Given the description of an element on the screen output the (x, y) to click on. 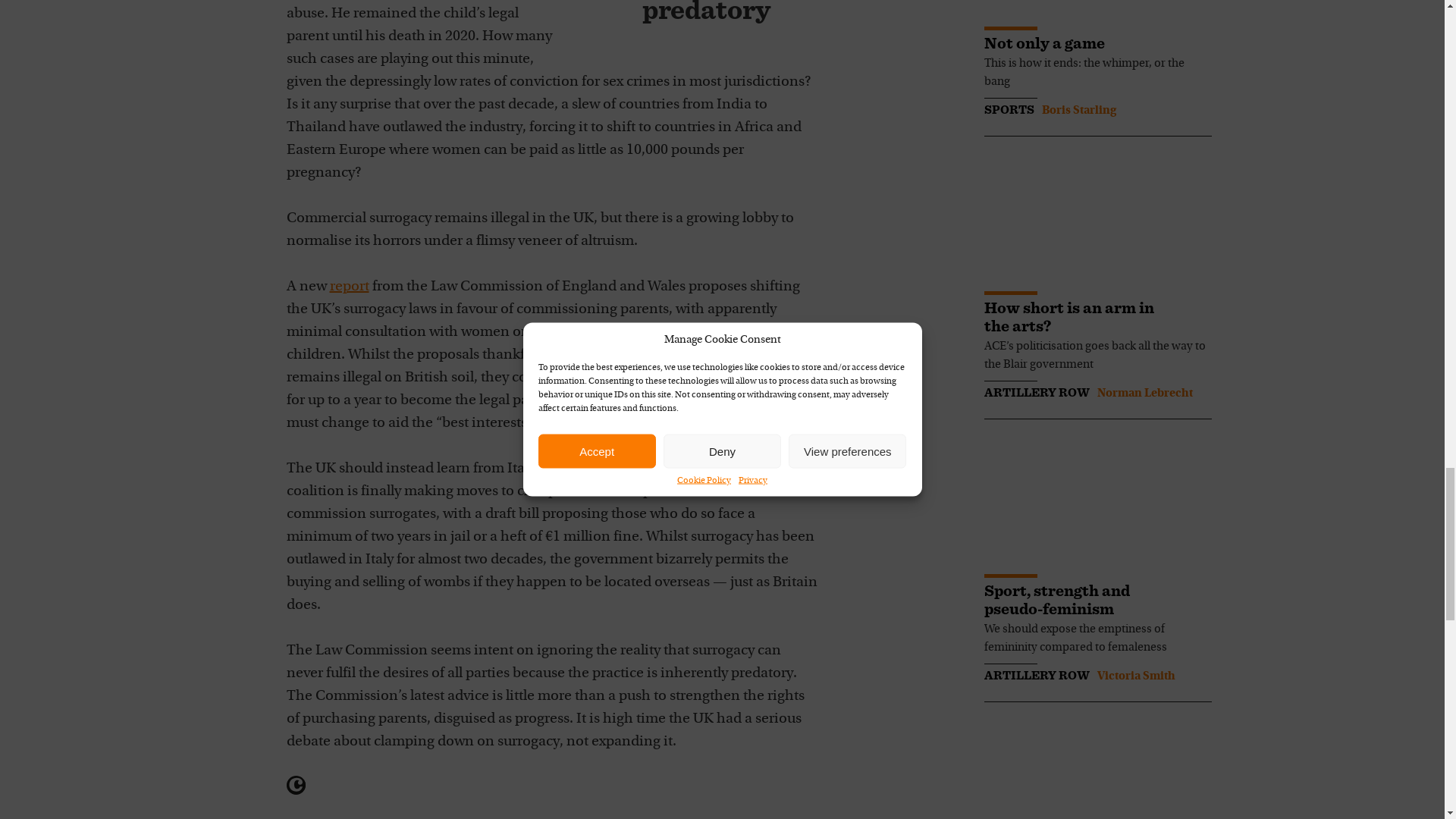
Posts by Boris Starling (1079, 110)
Posts by Victoria Smith (1135, 676)
Posts by Norman Lebrecht (1144, 393)
